Given the description of an element on the screen output the (x, y) to click on. 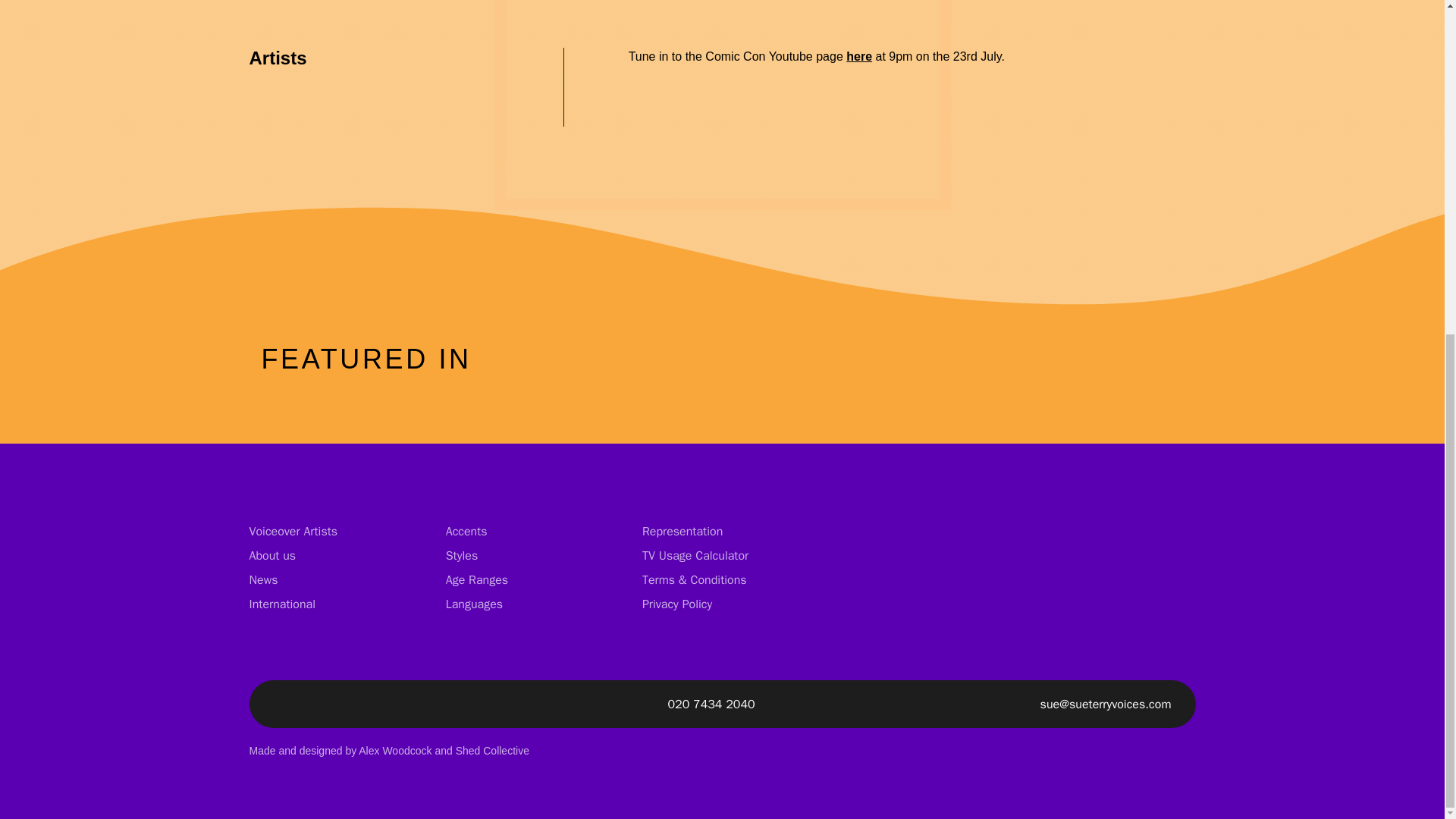
About us (271, 555)
Voiceover Artists (292, 531)
Representation (682, 531)
Styles (462, 555)
News (263, 580)
here (858, 56)
Languages (473, 604)
Accents (466, 531)
International (281, 604)
Age Ranges (476, 580)
